Given the description of an element on the screen output the (x, y) to click on. 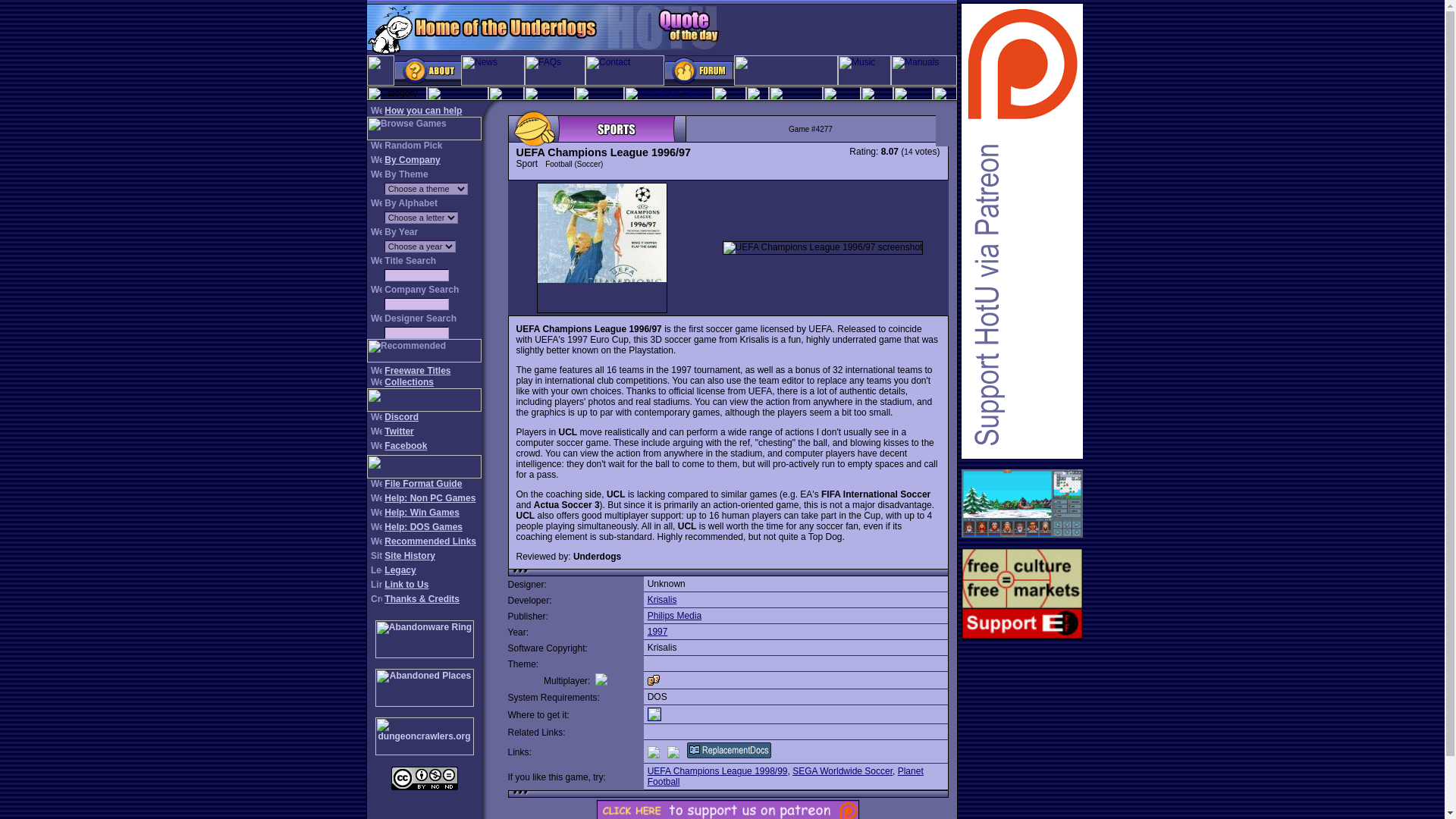
File Format Guide (422, 483)
Freeware Titles (416, 370)
Site History (409, 555)
Link to Us (406, 584)
Facebook (405, 445)
Twitter (398, 430)
Random Pick (413, 145)
How you can help (422, 110)
Recommended Links (430, 541)
By Company (411, 159)
